Given the description of an element on the screen output the (x, y) to click on. 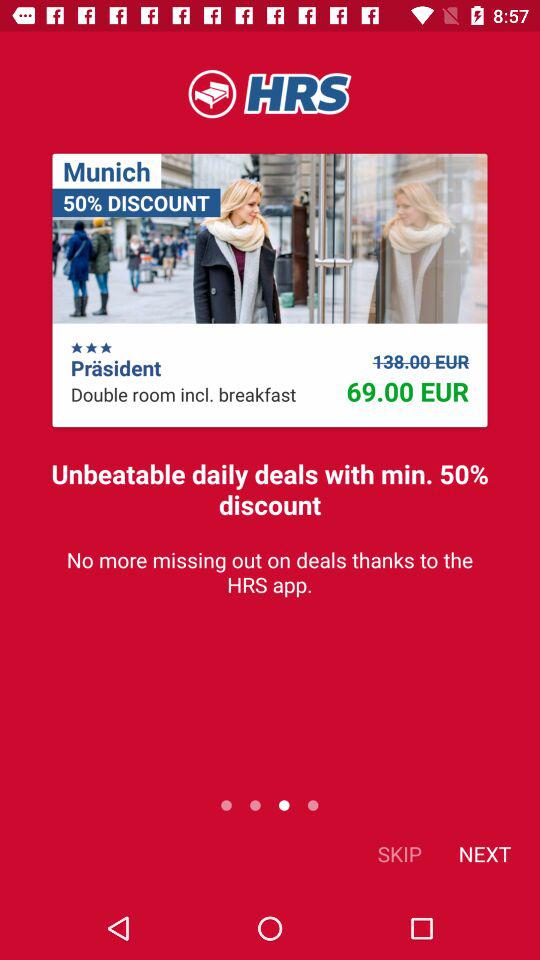
click item next to skip icon (484, 853)
